Given the description of an element on the screen output the (x, y) to click on. 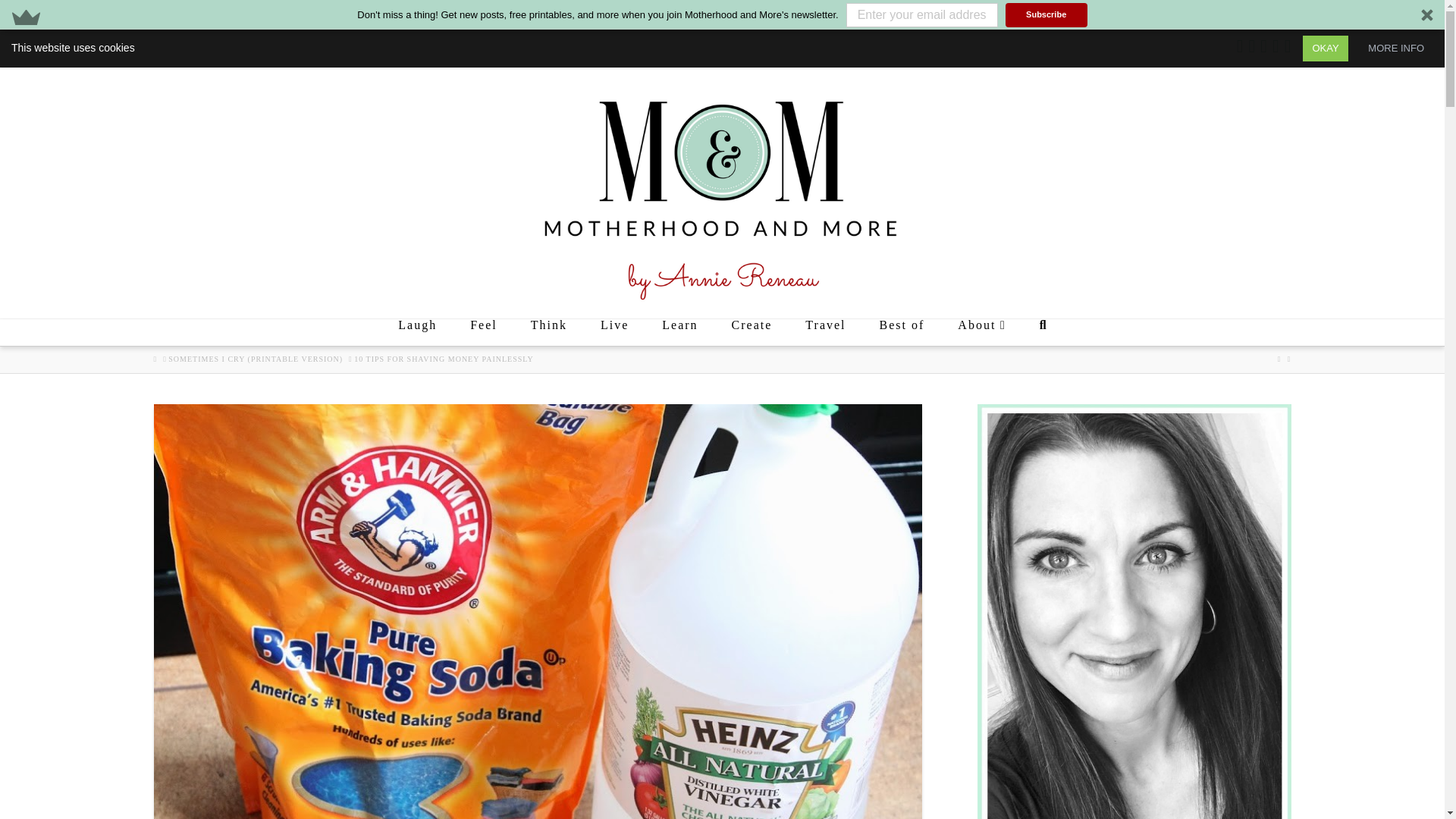
Learn (679, 332)
Travel (824, 332)
You Are Here (442, 358)
Create (751, 332)
Best of (900, 332)
Subscribe (1046, 15)
Laugh (416, 332)
Think (548, 332)
10 TIPS FOR SHAVING MONEY PAINLESSLY (442, 358)
About (981, 332)
Live (614, 332)
Feel (482, 332)
